Given the description of an element on the screen output the (x, y) to click on. 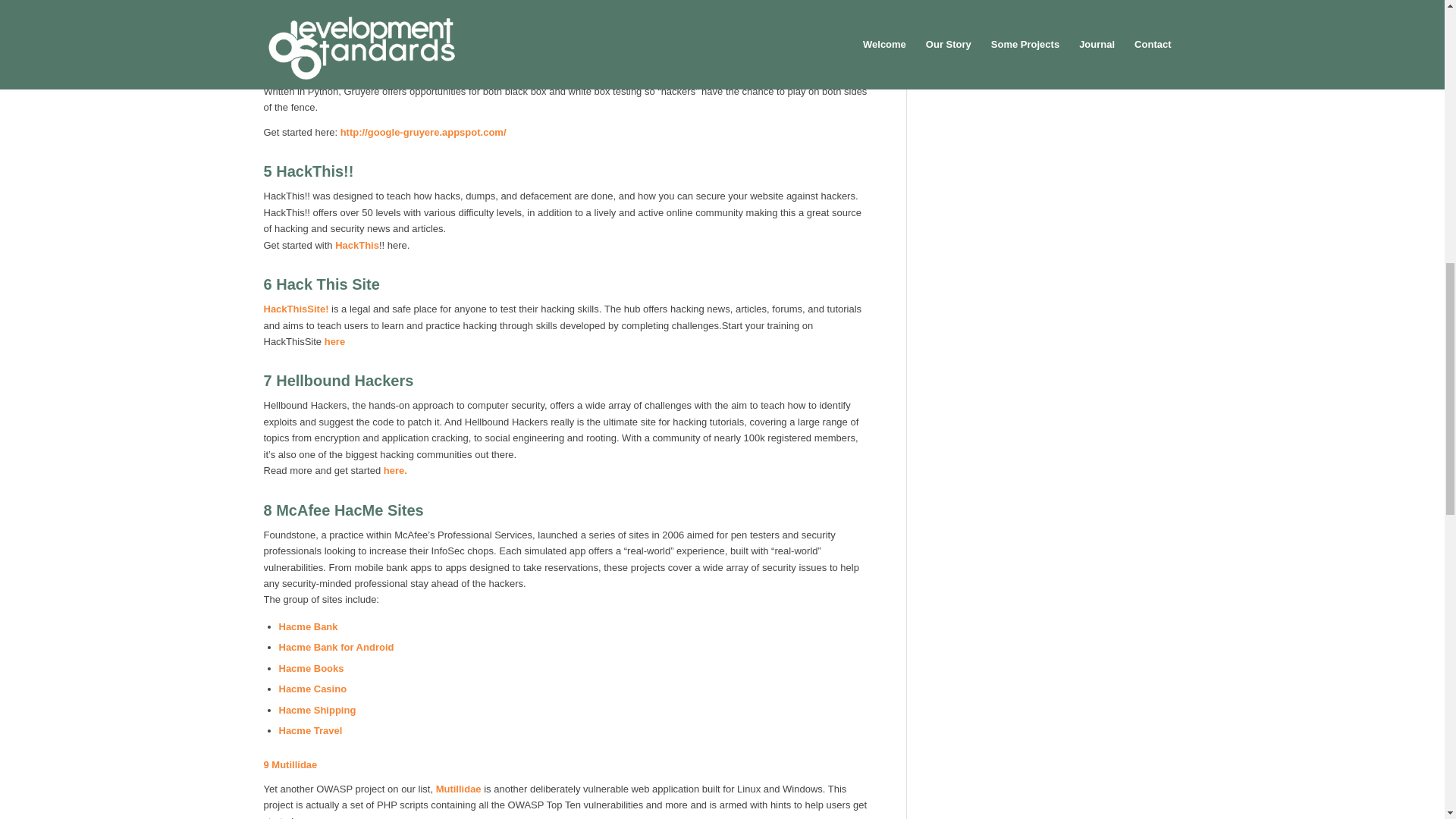
Hacme Bank for Android (336, 646)
McAfee HacMe Sites (349, 510)
Mutillidae (458, 788)
here (334, 341)
Hacme Travel (310, 730)
Hacme Shipping (317, 709)
Hellbound Hackers (344, 380)
HackThis!! (314, 170)
HackThis (356, 244)
Hacme Casino (313, 688)
here. (393, 470)
Mutillidae (293, 764)
Hack This Site (328, 284)
Hacme Bank (308, 626)
HackThisSite! (296, 308)
